Given the description of an element on the screen output the (x, y) to click on. 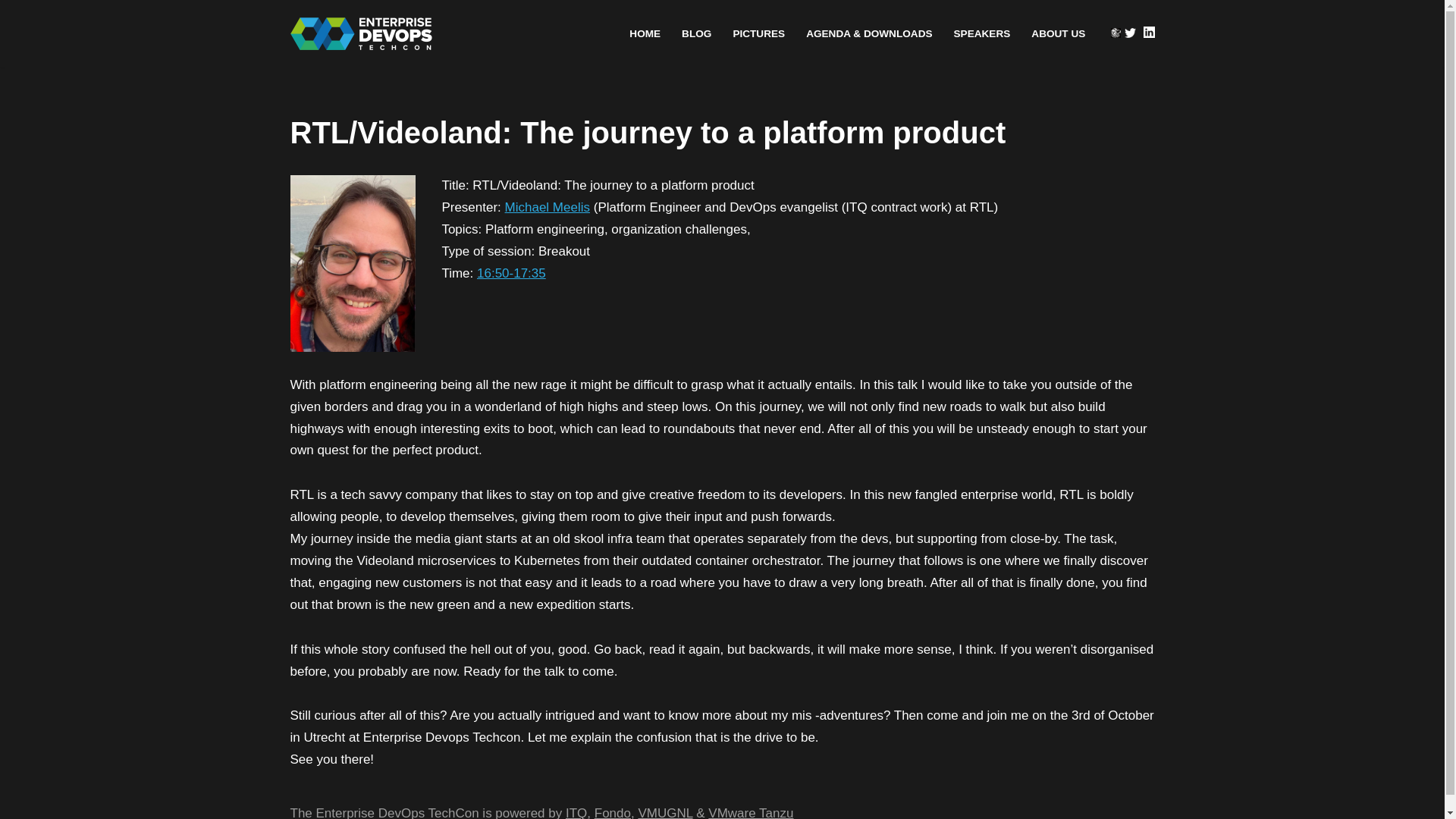
ITQ (576, 812)
PICTURES (758, 33)
Michael Meelis (547, 206)
VMware Tanzu (750, 812)
16:50-17:35 (511, 273)
ABOUT US (1057, 33)
Skip to content (11, 31)
HOME (644, 33)
VMUGNL (665, 812)
BLOG (696, 33)
SPEAKERS (981, 33)
Fondo (612, 812)
